Given the description of an element on the screen output the (x, y) to click on. 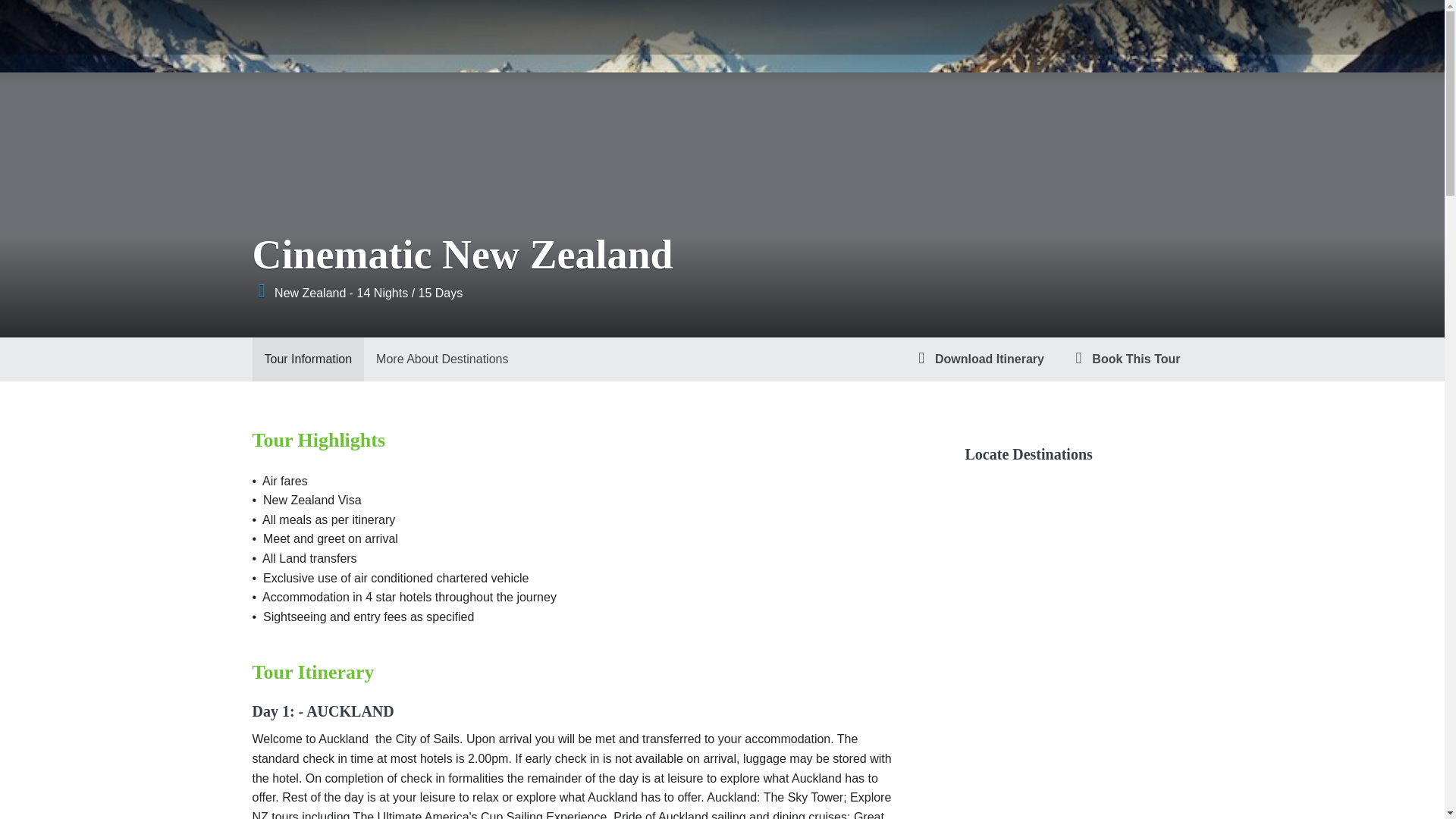
Block your seats before it's too late! (1124, 359)
Tour Information (307, 359)
Download Itinerary (976, 359)
More About Destinations (441, 359)
Download detailed tour itinerary here! (976, 359)
Book This Tour (1124, 359)
